Given the description of an element on the screen output the (x, y) to click on. 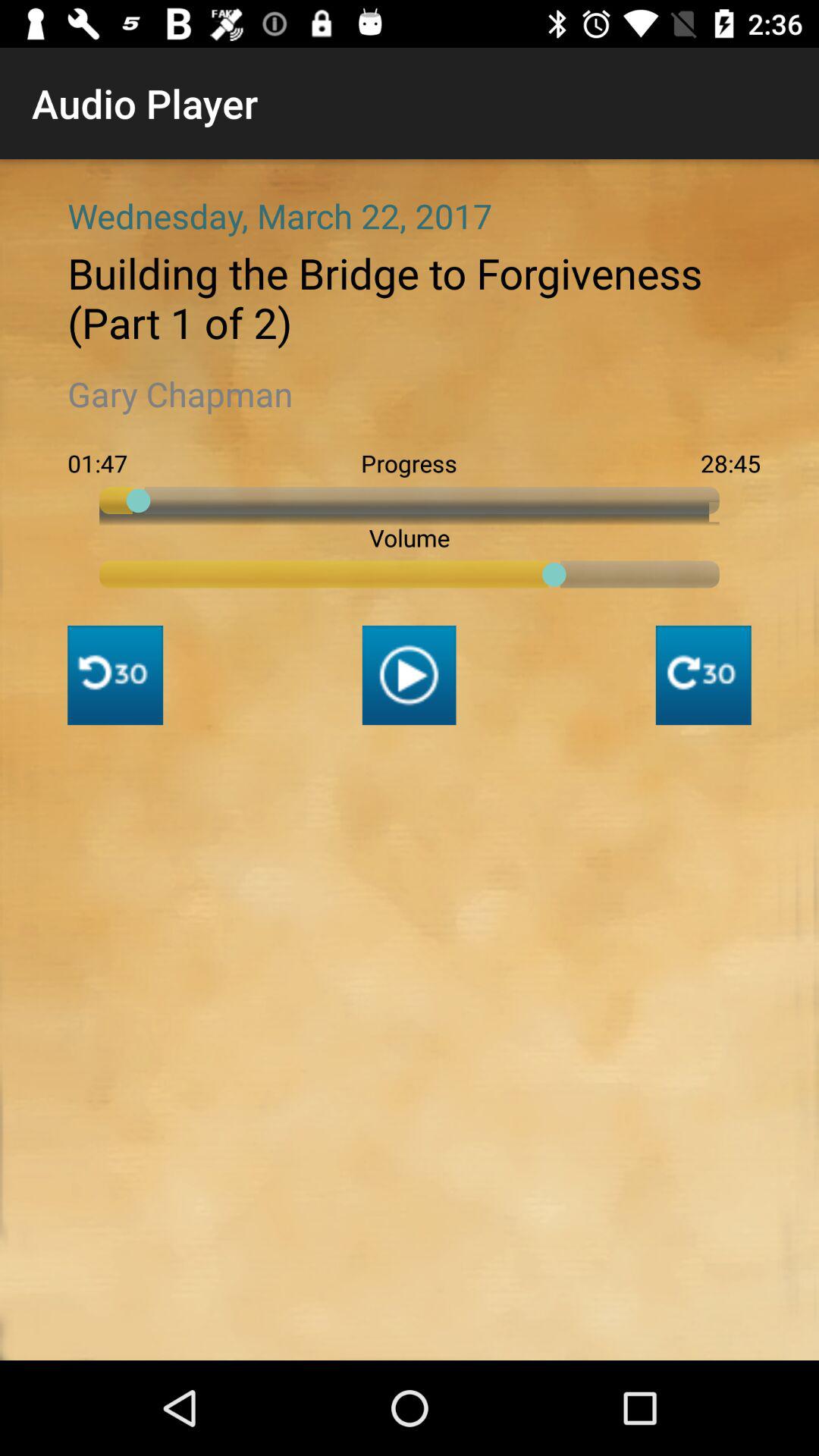
select icon on the right (703, 675)
